Given the description of an element on the screen output the (x, y) to click on. 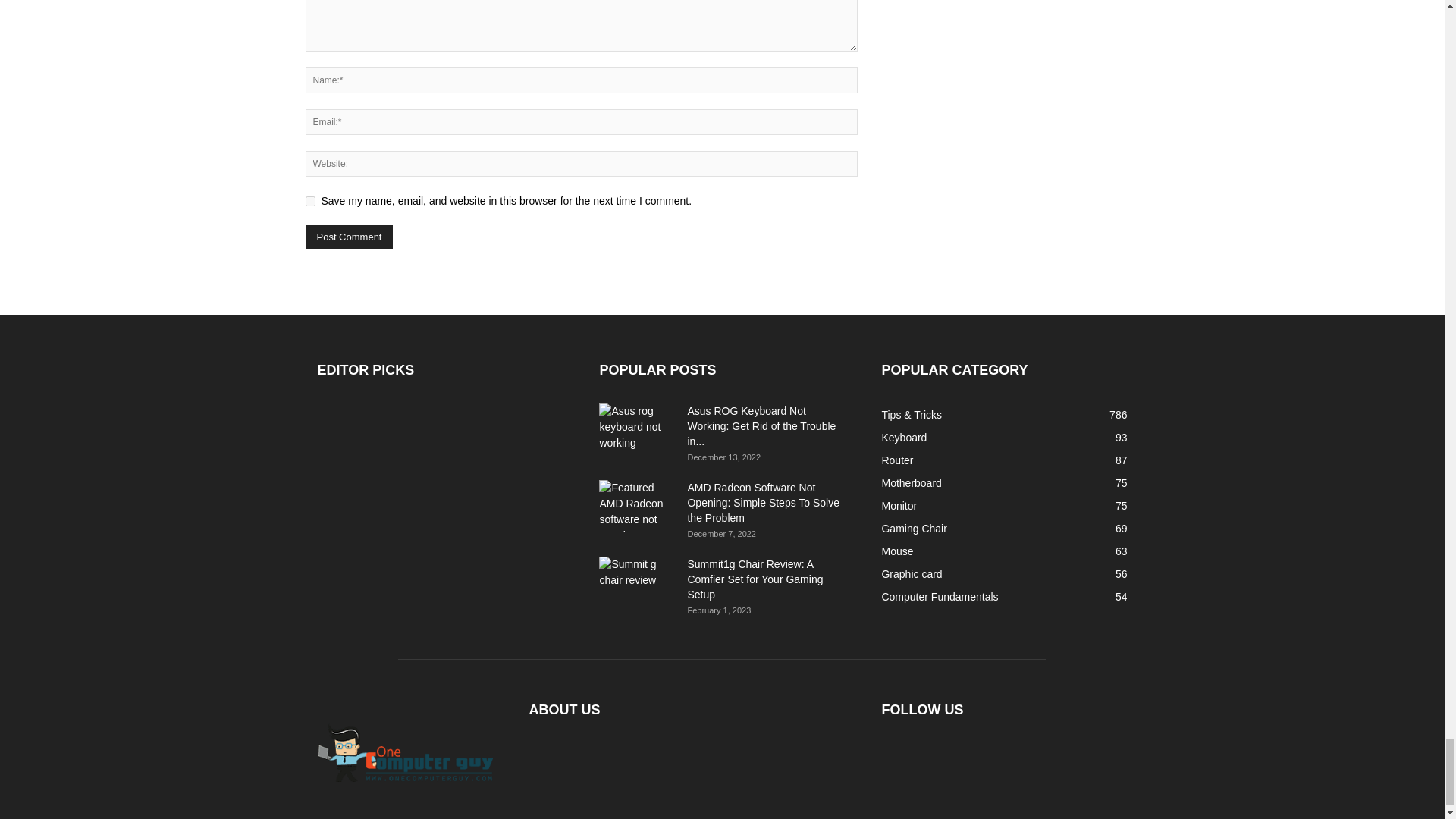
Post Comment (348, 236)
yes (309, 201)
